Given the description of an element on the screen output the (x, y) to click on. 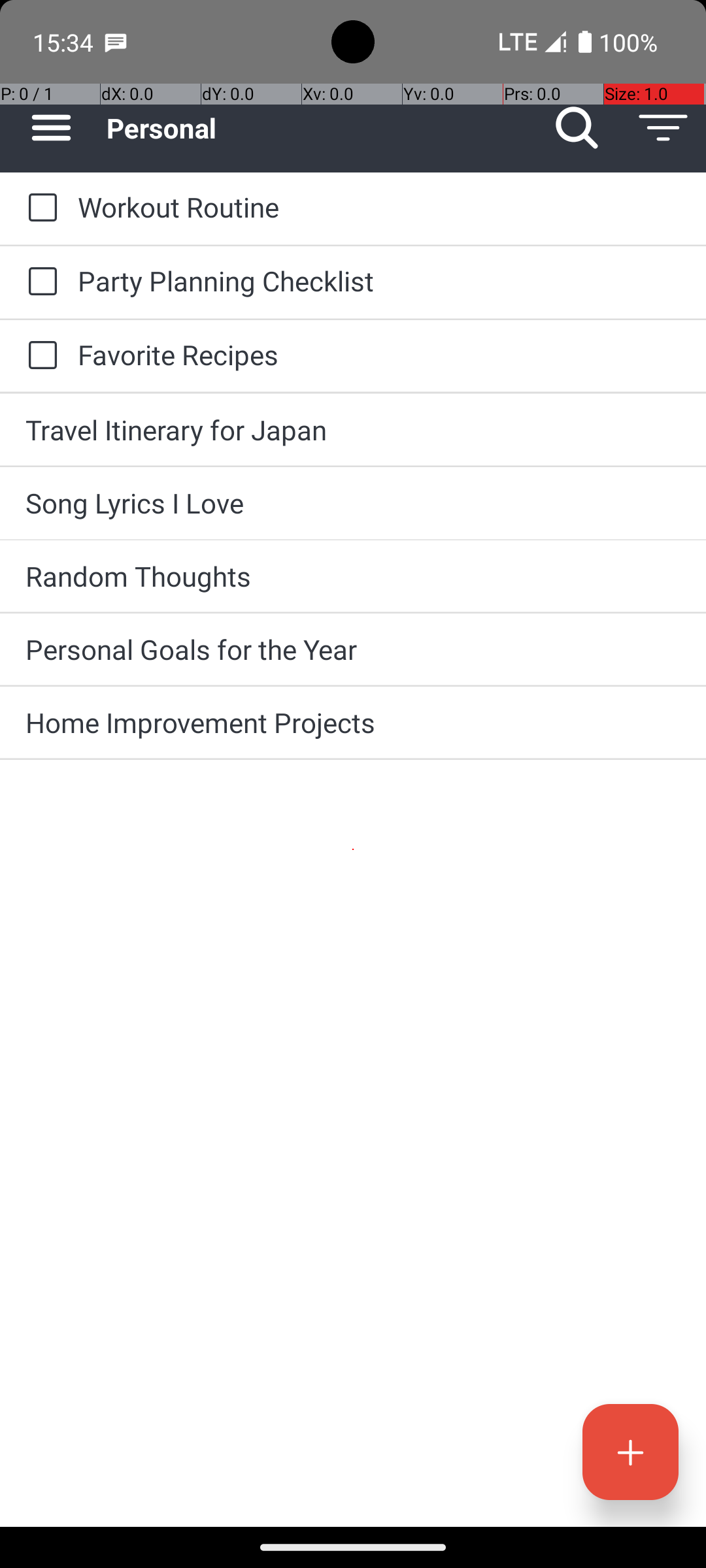
to-do: Workout Routine Element type: android.widget.CheckBox (38, 208)
Workout Routine Element type: android.widget.TextView (378, 206)
to-do: Party Planning Checklist Element type: android.widget.CheckBox (38, 282)
Party Planning Checklist Element type: android.widget.TextView (378, 280)
to-do: Favorite Recipes Element type: android.widget.CheckBox (38, 356)
Favorite Recipes Element type: android.widget.TextView (378, 354)
Travel Itinerary for Japan Element type: android.widget.TextView (352, 429)
Song Lyrics I Love Element type: android.widget.TextView (352, 502)
Random Thoughts Element type: android.widget.TextView (352, 575)
Personal Goals for the Year Element type: android.widget.TextView (352, 648)
Home Improvement Projects Element type: android.widget.TextView (352, 721)
